Given the description of an element on the screen output the (x, y) to click on. 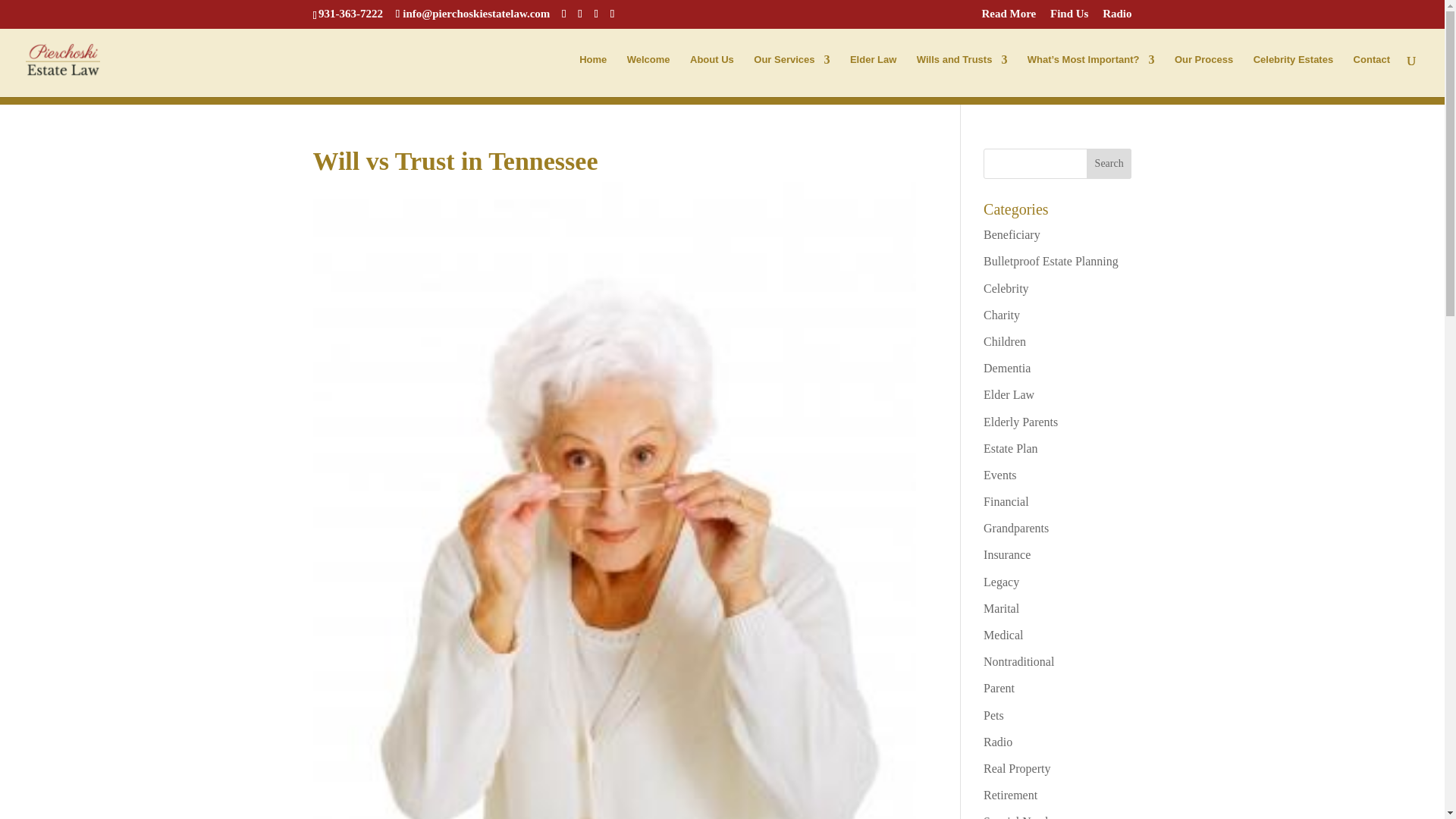
Elder Law (873, 75)
Welcome (648, 75)
Search (1109, 163)
Read More (1008, 17)
Celebrity Estates (1293, 75)
Find Us (1068, 17)
Our Process (1203, 75)
Wills and Trusts (962, 75)
Our Services (791, 75)
Radio (1116, 17)
About Us (711, 75)
